Given the description of an element on the screen output the (x, y) to click on. 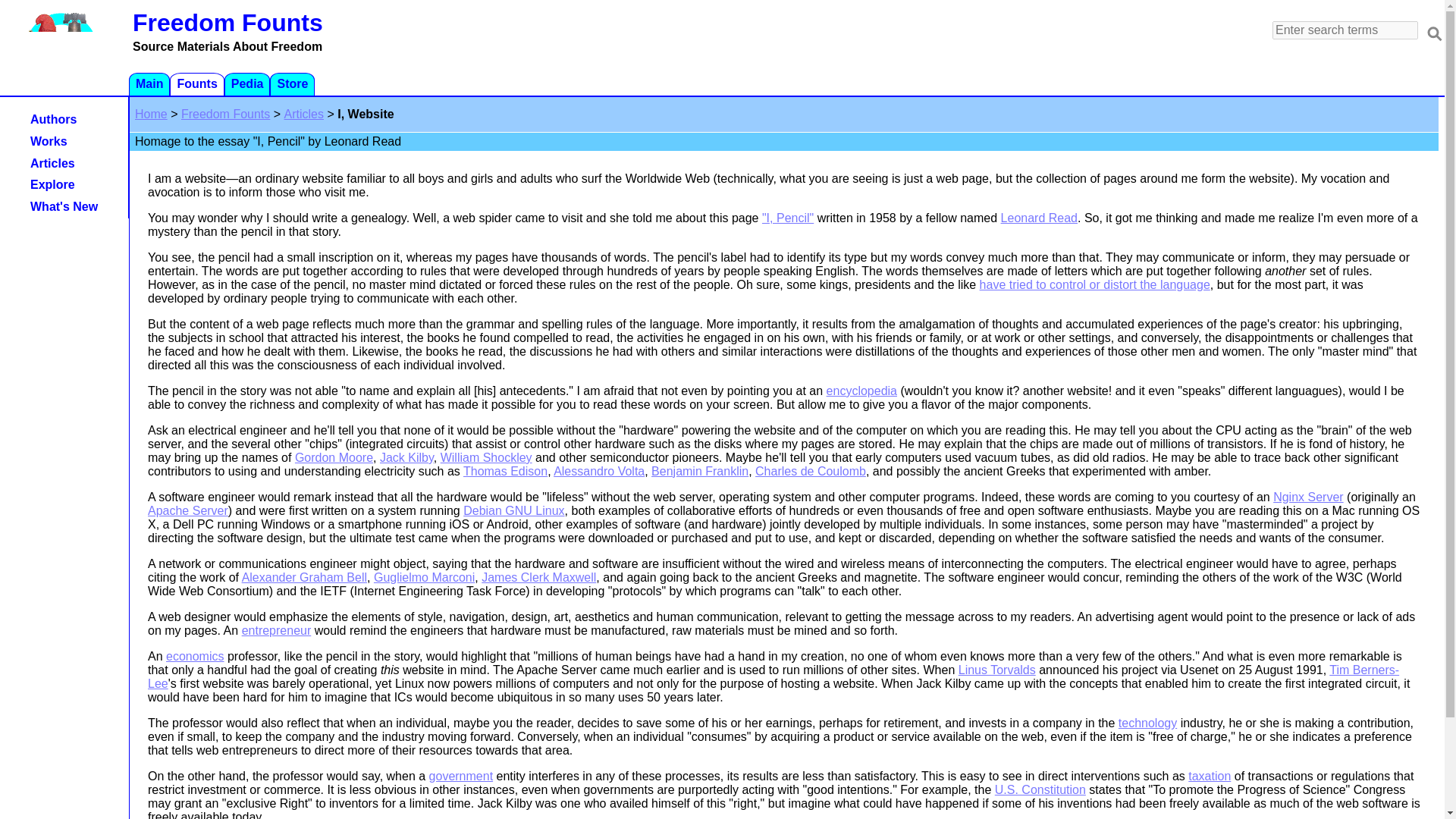
Guglielmo Marconi (424, 576)
Debian GNU Linux (513, 510)
government (461, 775)
"I, Pencil" (787, 217)
Charles de Coulomb (810, 471)
Explore (60, 92)
Pedia (66, 185)
taxation (244, 84)
Alexander Graham Bell (1209, 775)
